Given the description of an element on the screen output the (x, y) to click on. 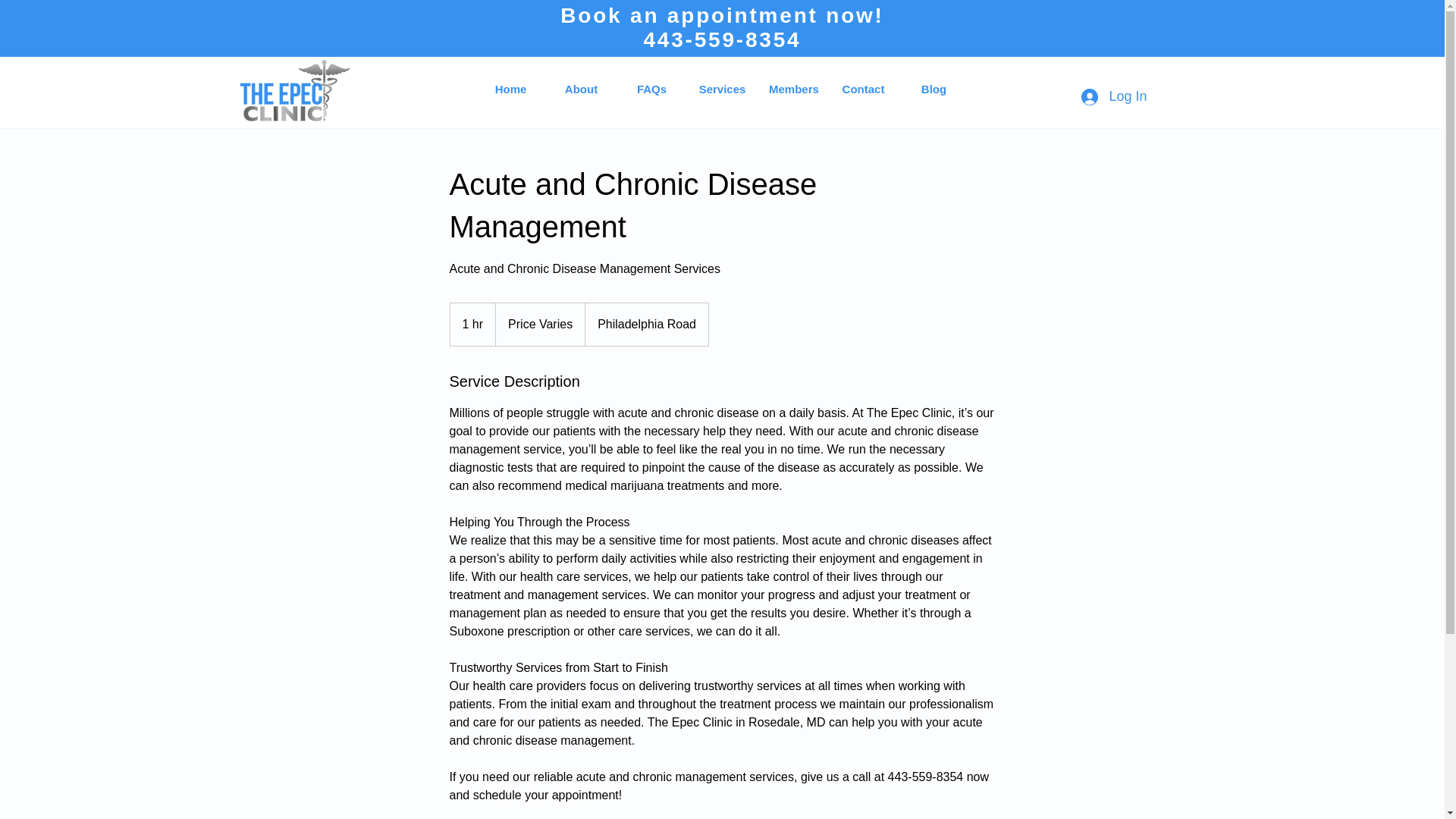
Log In (1113, 96)
Services (722, 89)
Members (792, 89)
Contact (863, 89)
About (580, 89)
Home (511, 89)
FAQs (651, 89)
Blog (933, 89)
